Given the description of an element on the screen output the (x, y) to click on. 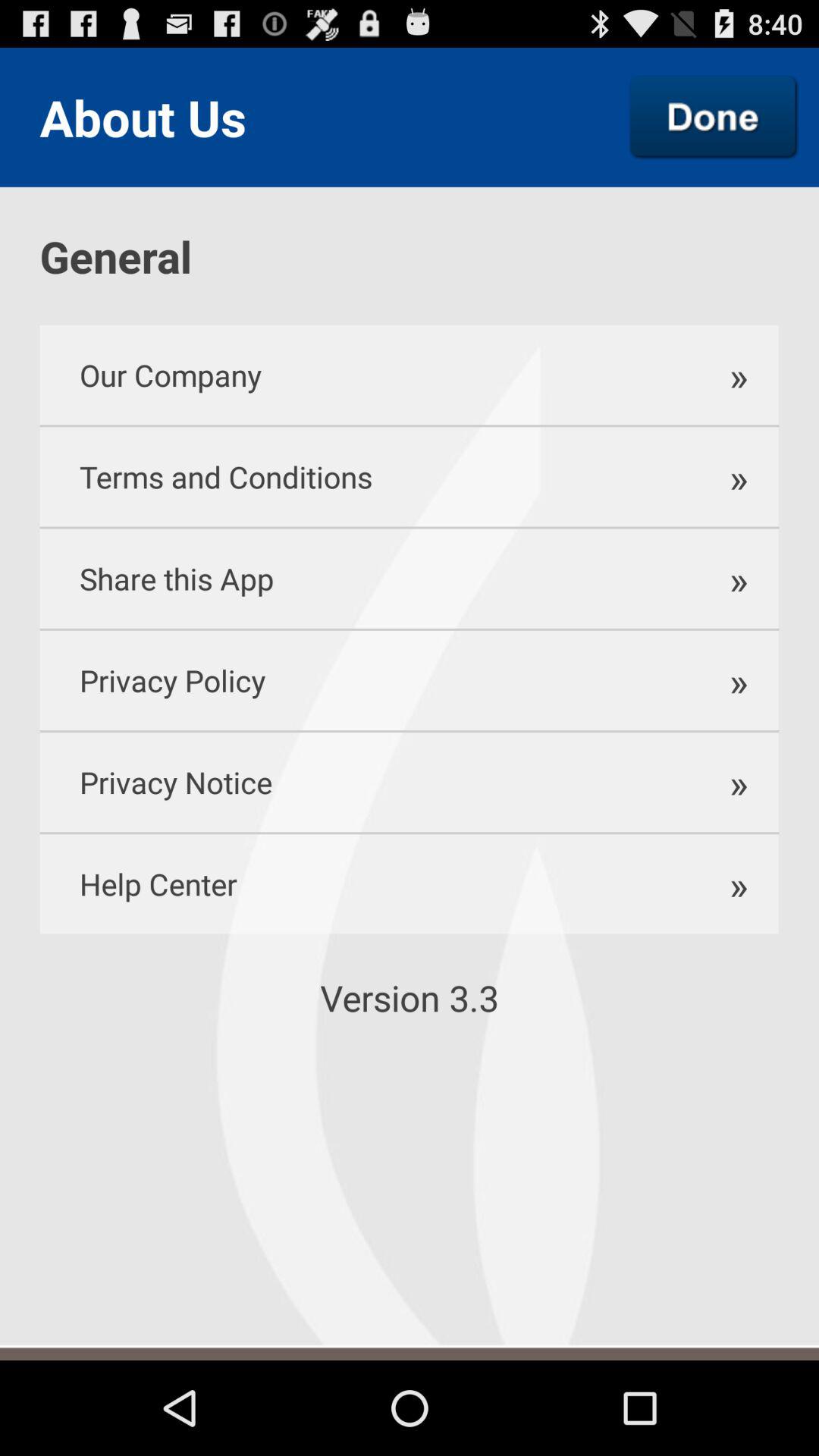
done (714, 117)
